Given the description of an element on the screen output the (x, y) to click on. 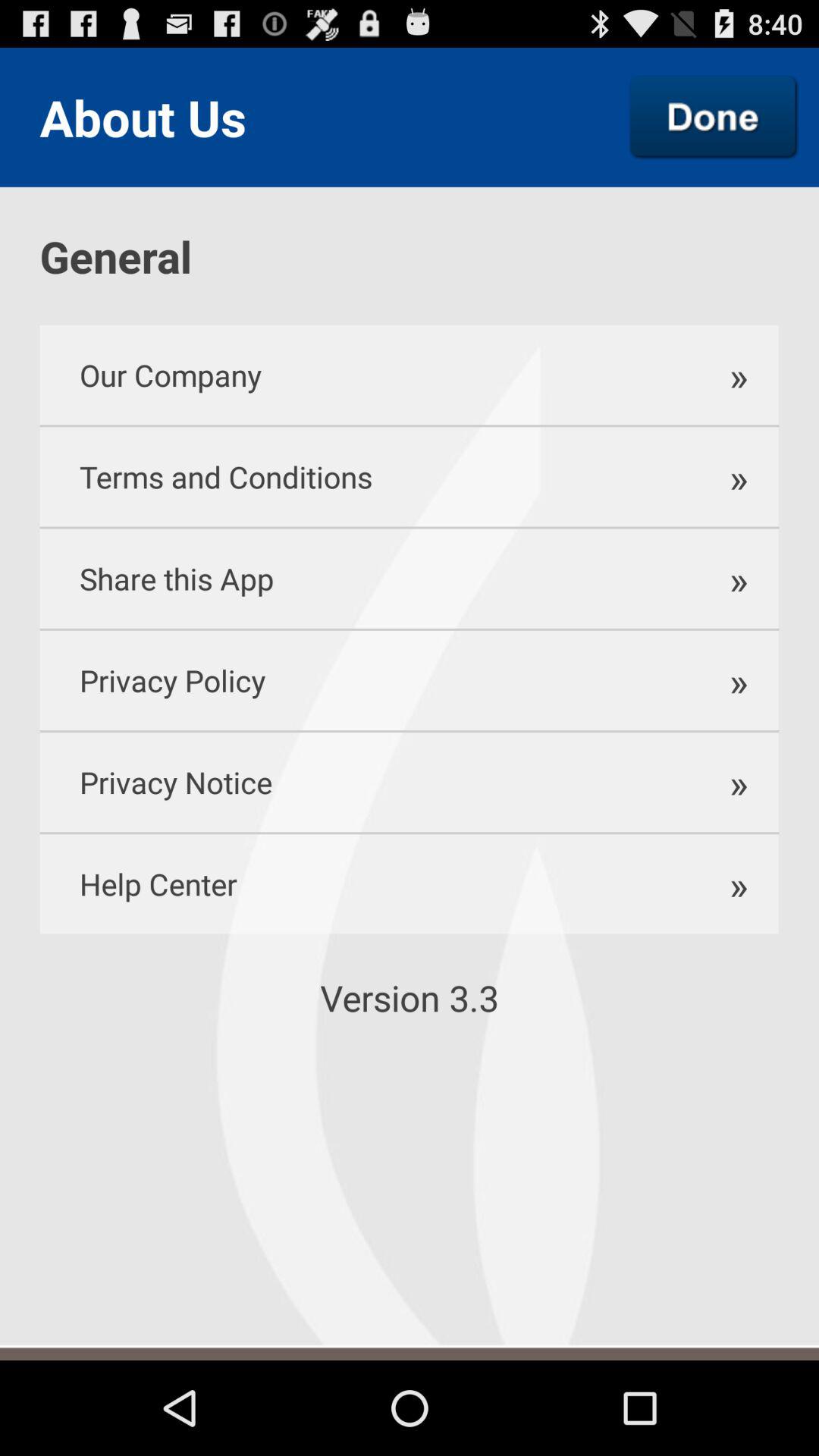
done (714, 117)
